Given the description of an element on the screen output the (x, y) to click on. 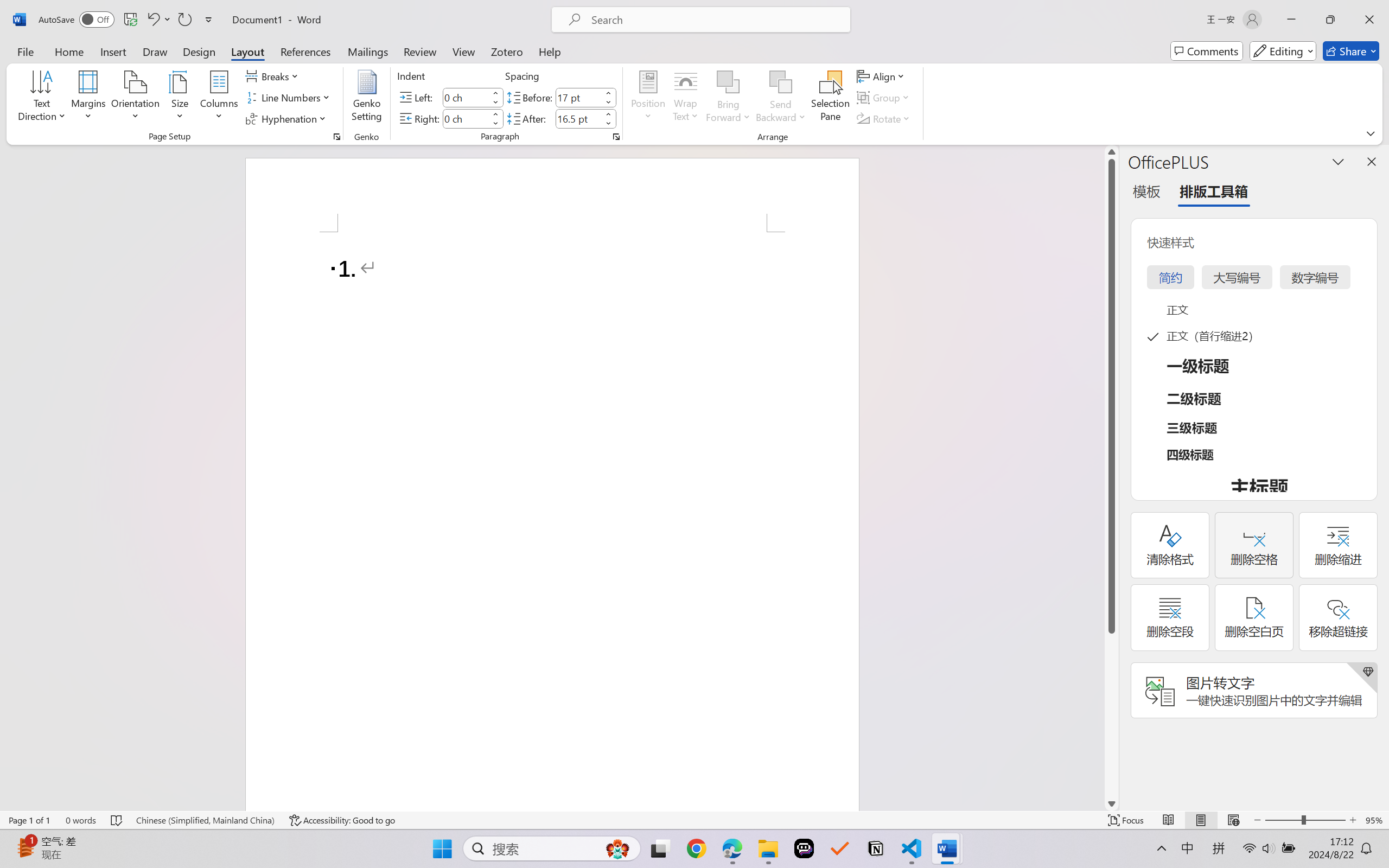
Orientation (135, 97)
Columns (219, 97)
Indent Right (465, 118)
Margins (88, 97)
Breaks (273, 75)
